Given the description of an element on the screen output the (x, y) to click on. 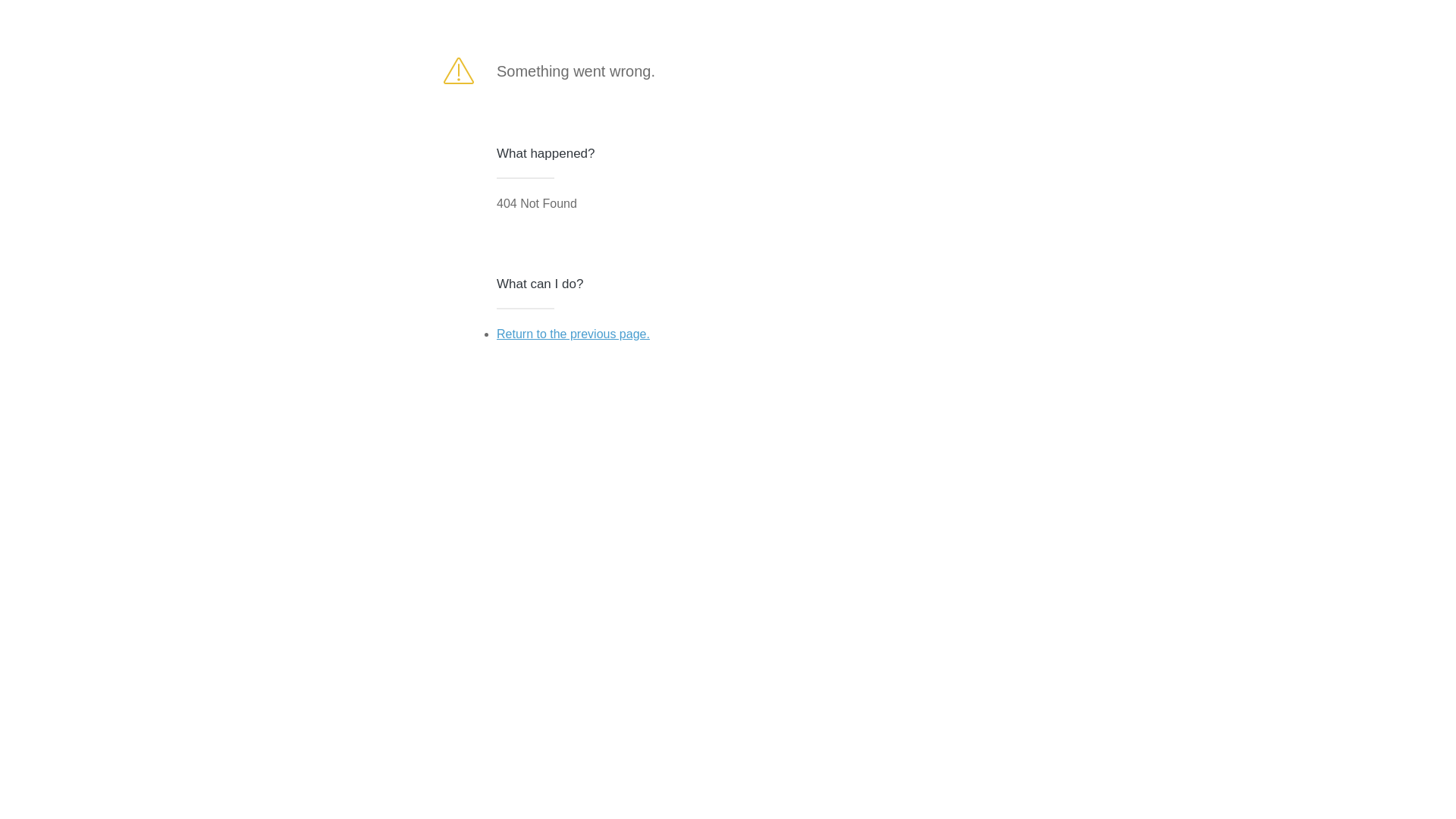
Return to the previous page. Element type: text (572, 333)
